Given the description of an element on the screen output the (x, y) to click on. 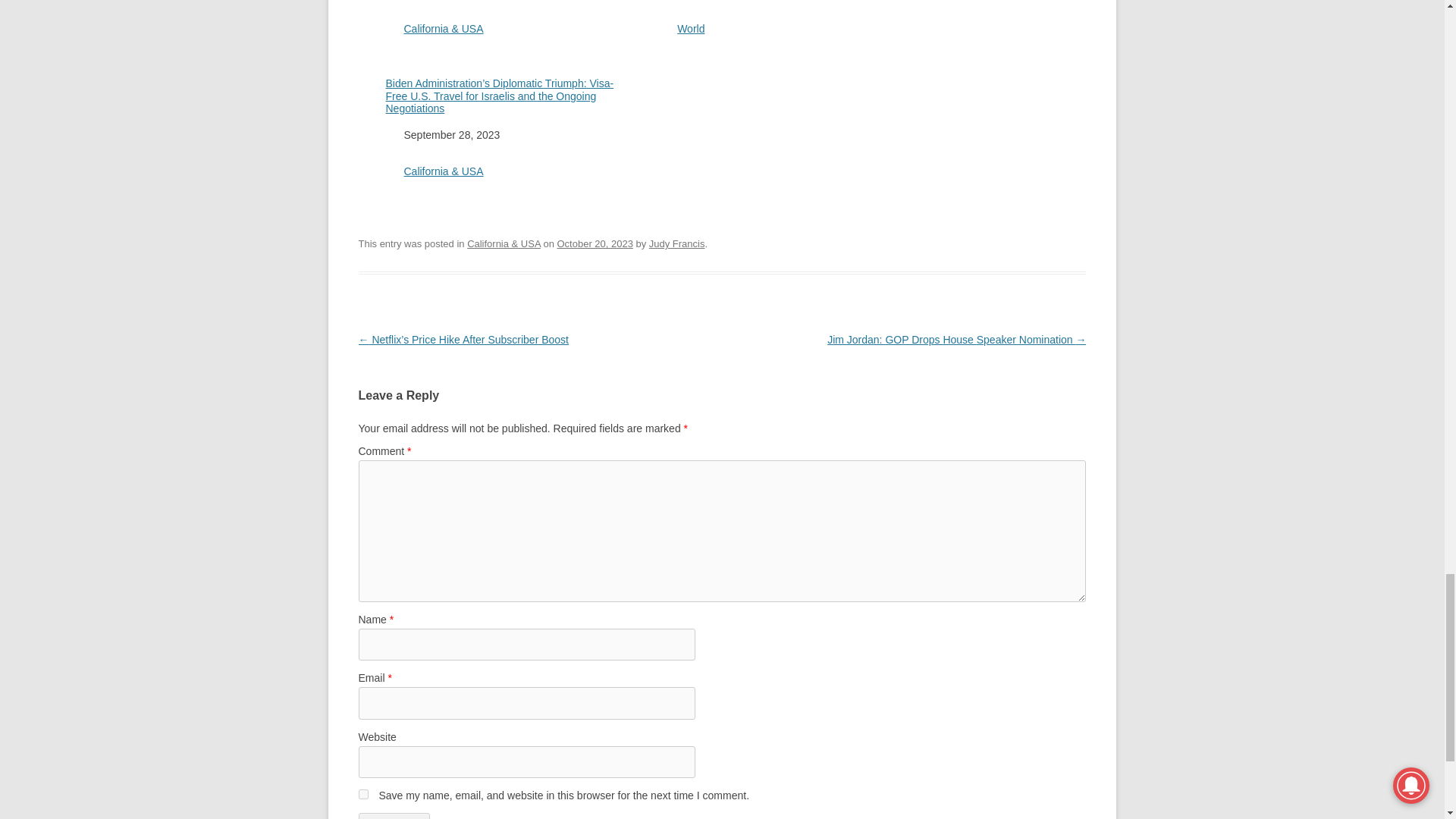
Judy Francis (676, 243)
View all posts by Judy Francis (676, 243)
Post Comment (393, 816)
Post Comment (393, 816)
October 20, 2023 (595, 243)
yes (363, 794)
World (690, 28)
3:37 am (595, 243)
